Given the description of an element on the screen output the (x, y) to click on. 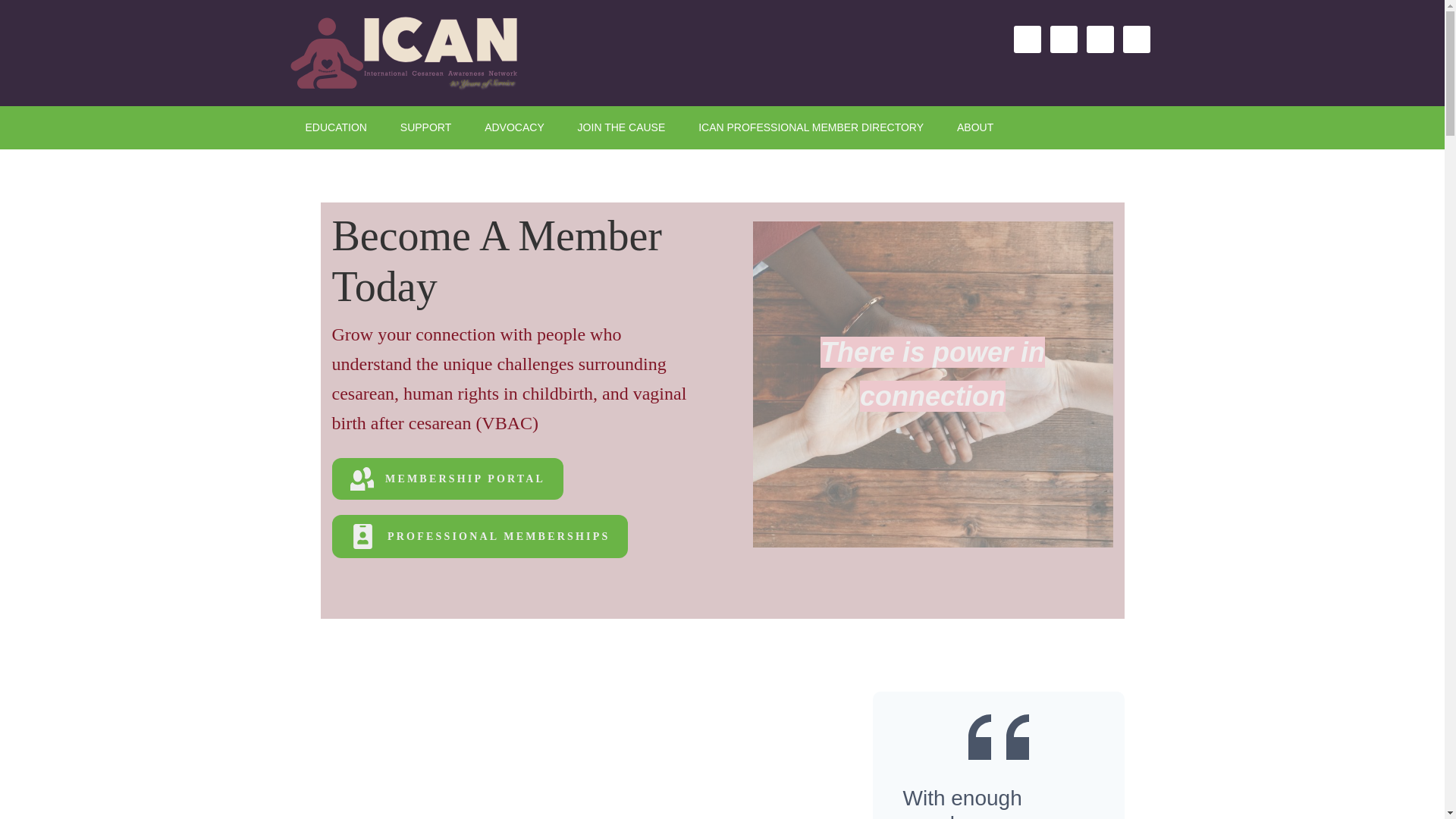
JOIN THE CAUSE (621, 127)
INTERNATIONAL CESAREAN AWARENESS NETWORK (418, 52)
EDUCATION (335, 127)
SUPPORT (425, 127)
ADVOCACY (513, 127)
